Given the description of an element on the screen output the (x, y) to click on. 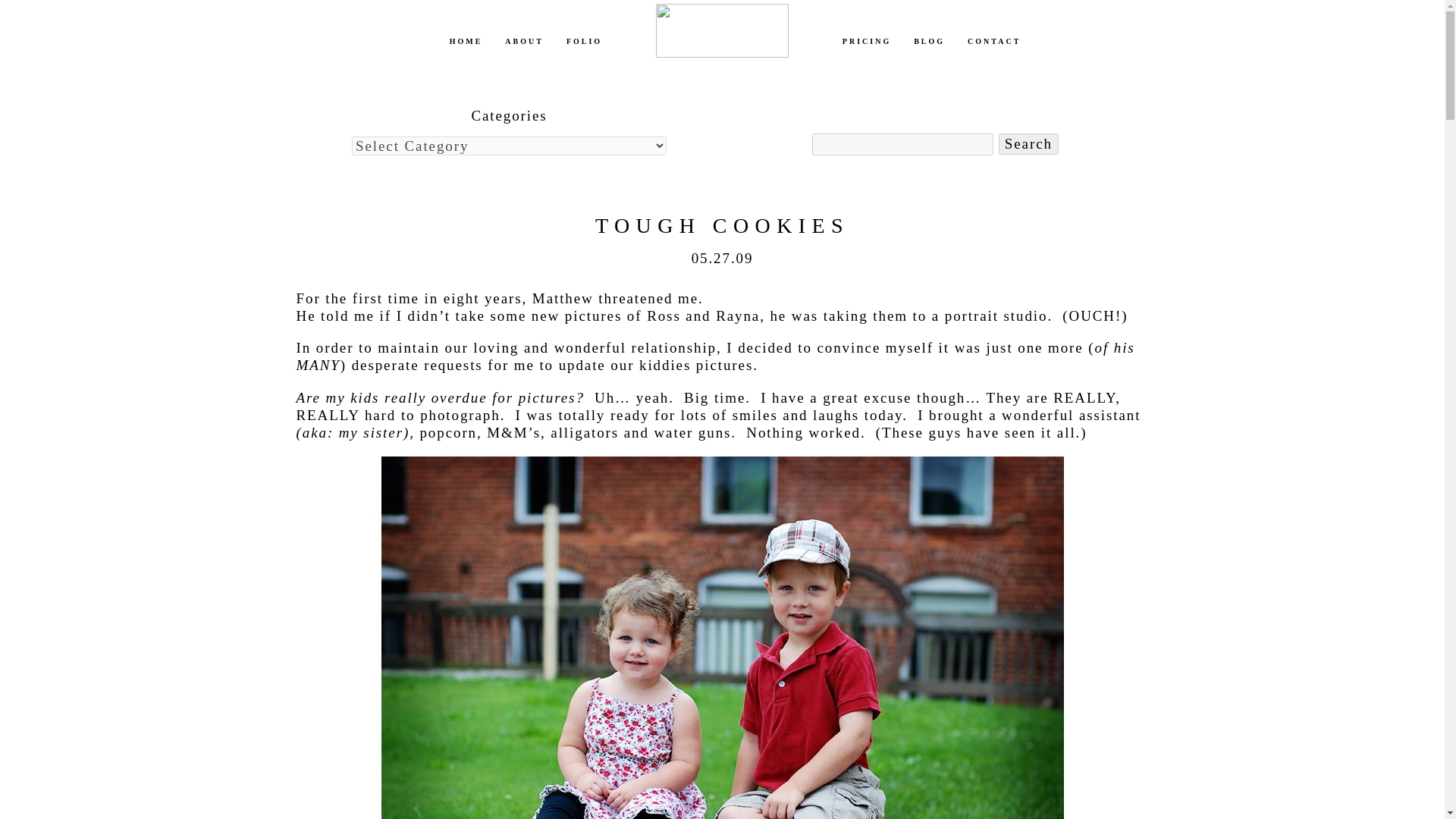
HOME (466, 40)
Search (1028, 143)
ABOUT (524, 40)
Search (1028, 143)
FOLIO (584, 40)
CONTACT (994, 40)
PRICING (867, 40)
BLOG (929, 40)
